Given the description of an element on the screen output the (x, y) to click on. 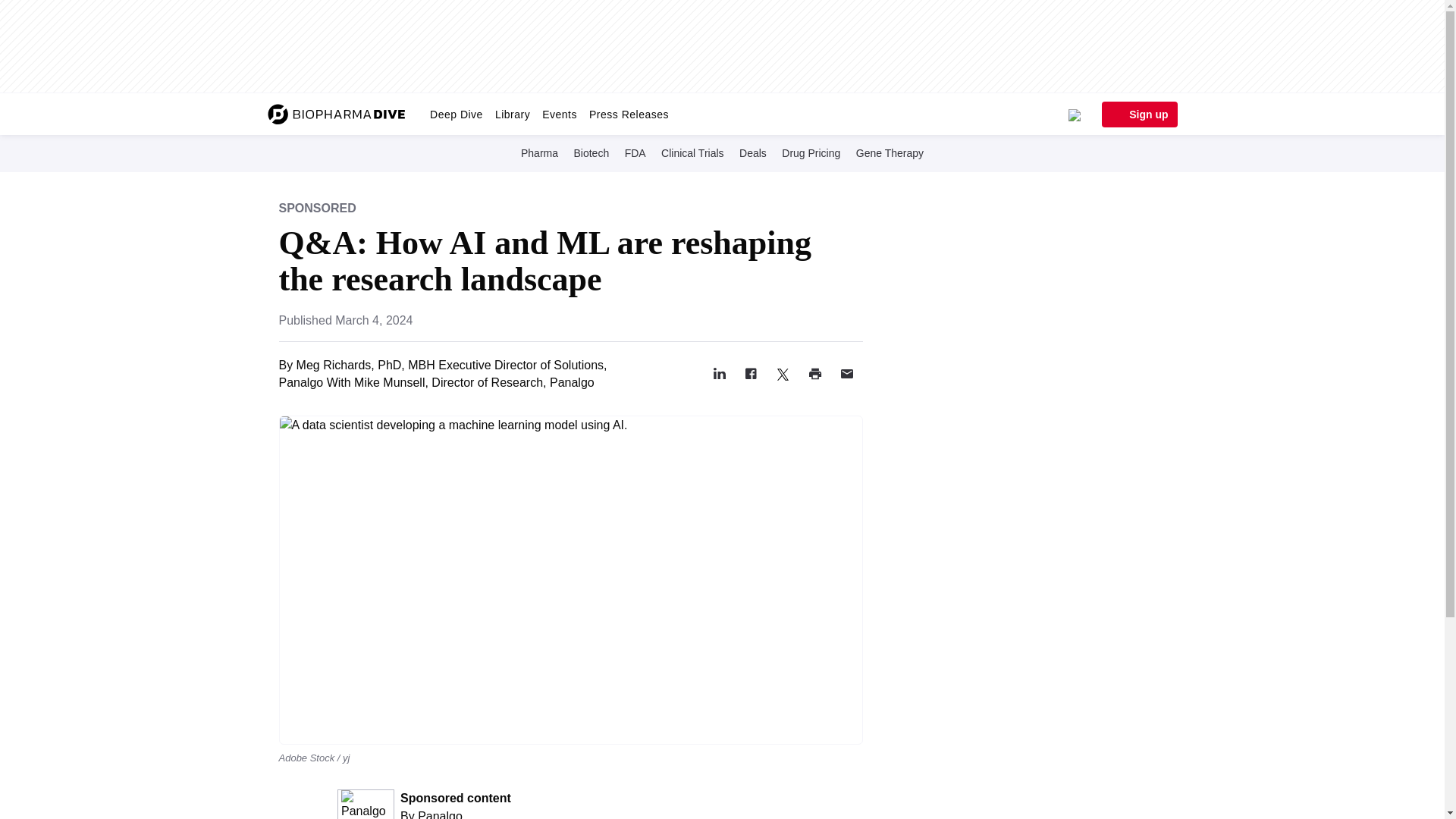
Biotech (590, 152)
Drug Pricing (810, 152)
Sign up (1138, 114)
Deep Dive (456, 114)
FDA (635, 152)
Deals (753, 152)
Pharma (539, 152)
Gene Therapy (889, 152)
Panalgo (440, 814)
Events (559, 114)
Clinical Trials (692, 152)
Library (512, 114)
Press Releases (629, 114)
